Given the description of an element on the screen output the (x, y) to click on. 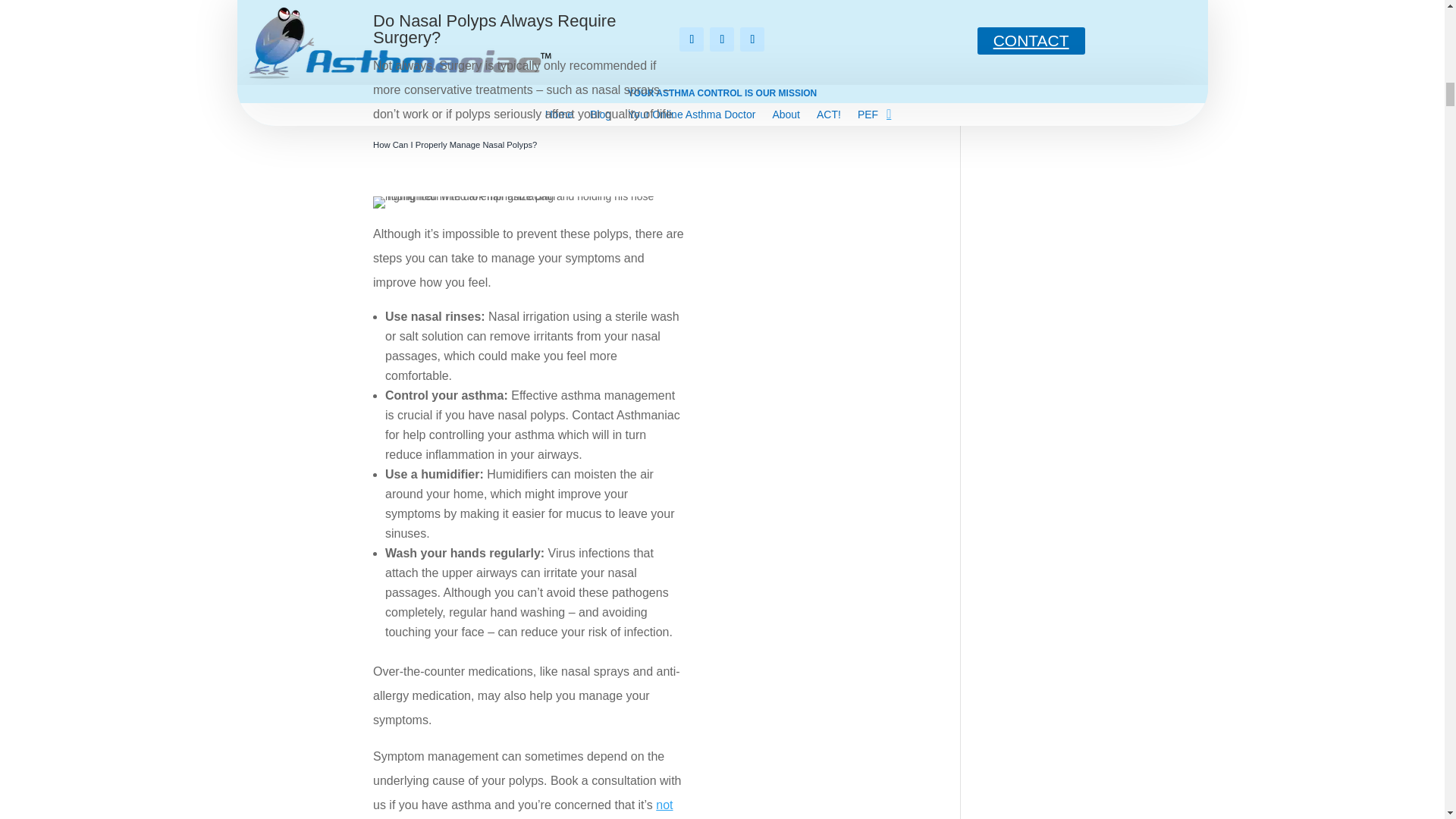
not under effective control (522, 808)
